Given the description of an element on the screen output the (x, y) to click on. 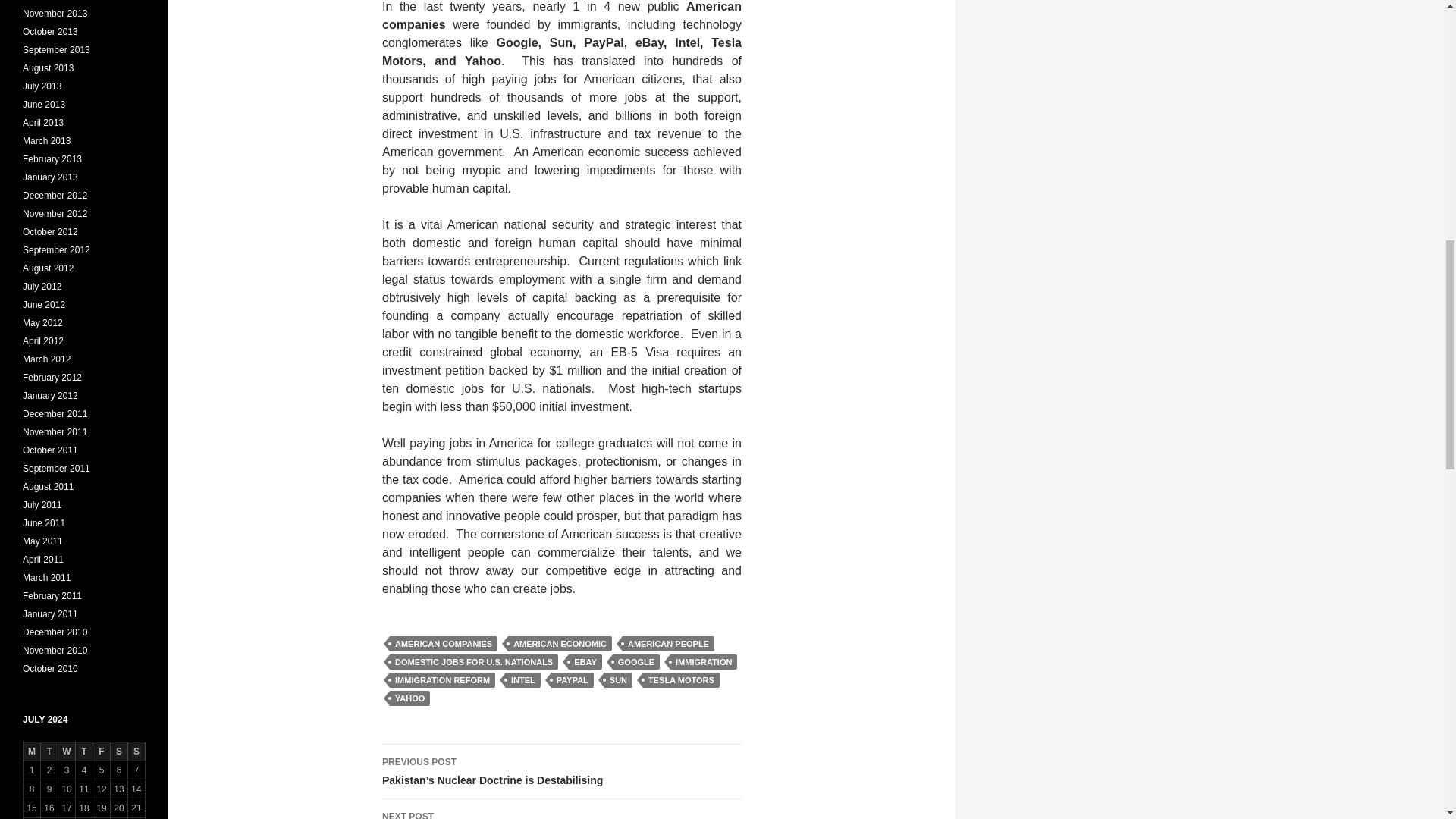
Tuesday (49, 751)
Sunday (136, 751)
GOOGLE (635, 661)
INTEL (522, 679)
Friday (101, 751)
PAYPAL (572, 679)
DOMESTIC JOBS FOR U.S. NATIONALS (473, 661)
IMMIGRATION REFORM (442, 679)
SUN (617, 679)
AMERICAN ECONOMIC (559, 643)
IMMIGRATION (702, 661)
TESLA MOTORS (681, 679)
Saturday (119, 751)
Monday (31, 751)
Wednesday (66, 751)
